Given the description of an element on the screen output the (x, y) to click on. 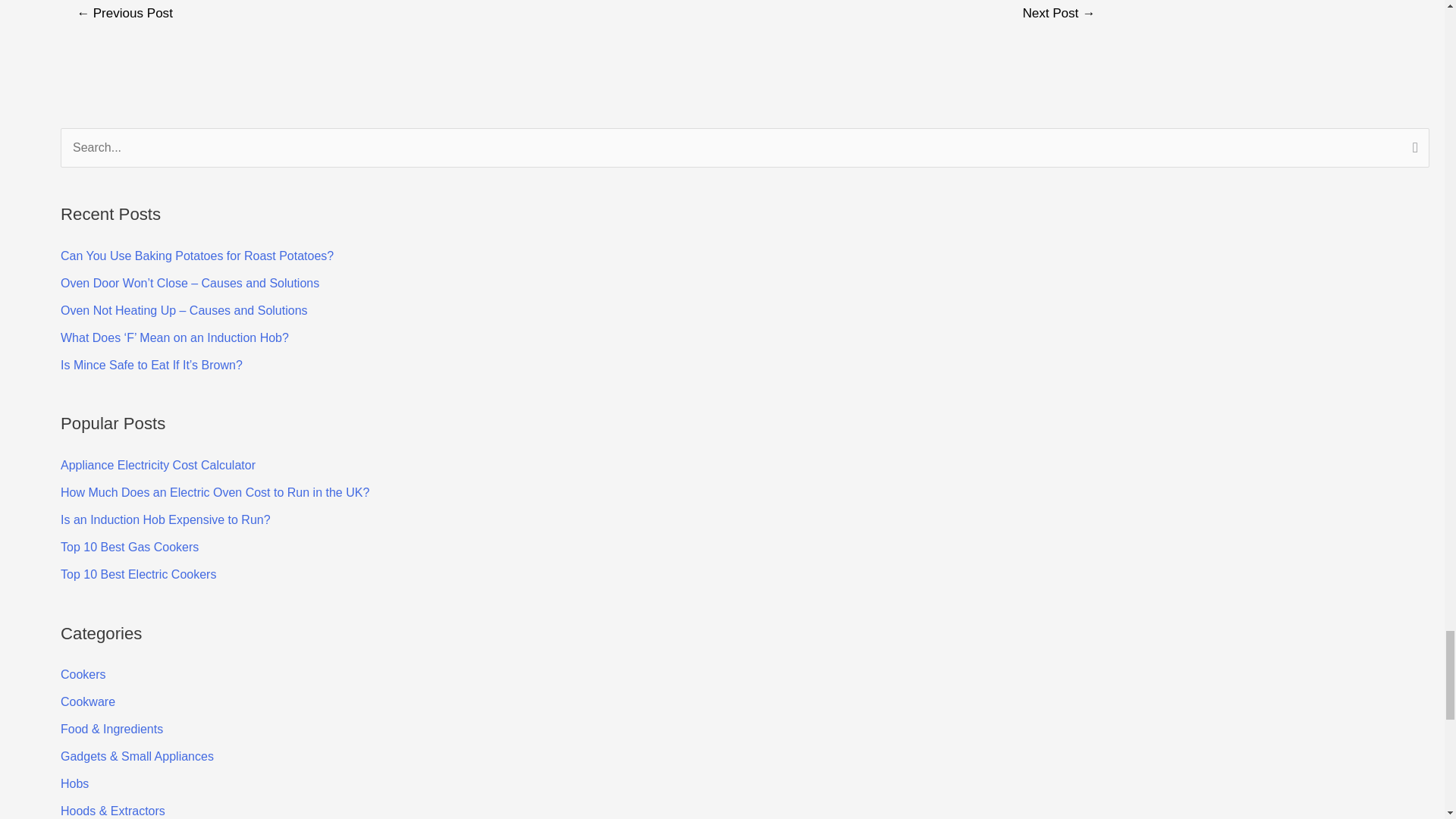
Search (1411, 148)
Appliance Electricity Cost Calculator (158, 464)
Search (1411, 148)
Gas Oven Won't Stay Lit - Causes and Solutions (124, 15)
How Much Does an Electric Oven Cost to Run in the UK? (215, 492)
Can You Use Baking Potatoes for Roast Potatoes? (197, 255)
Search (1411, 148)
